Given the description of an element on the screen output the (x, y) to click on. 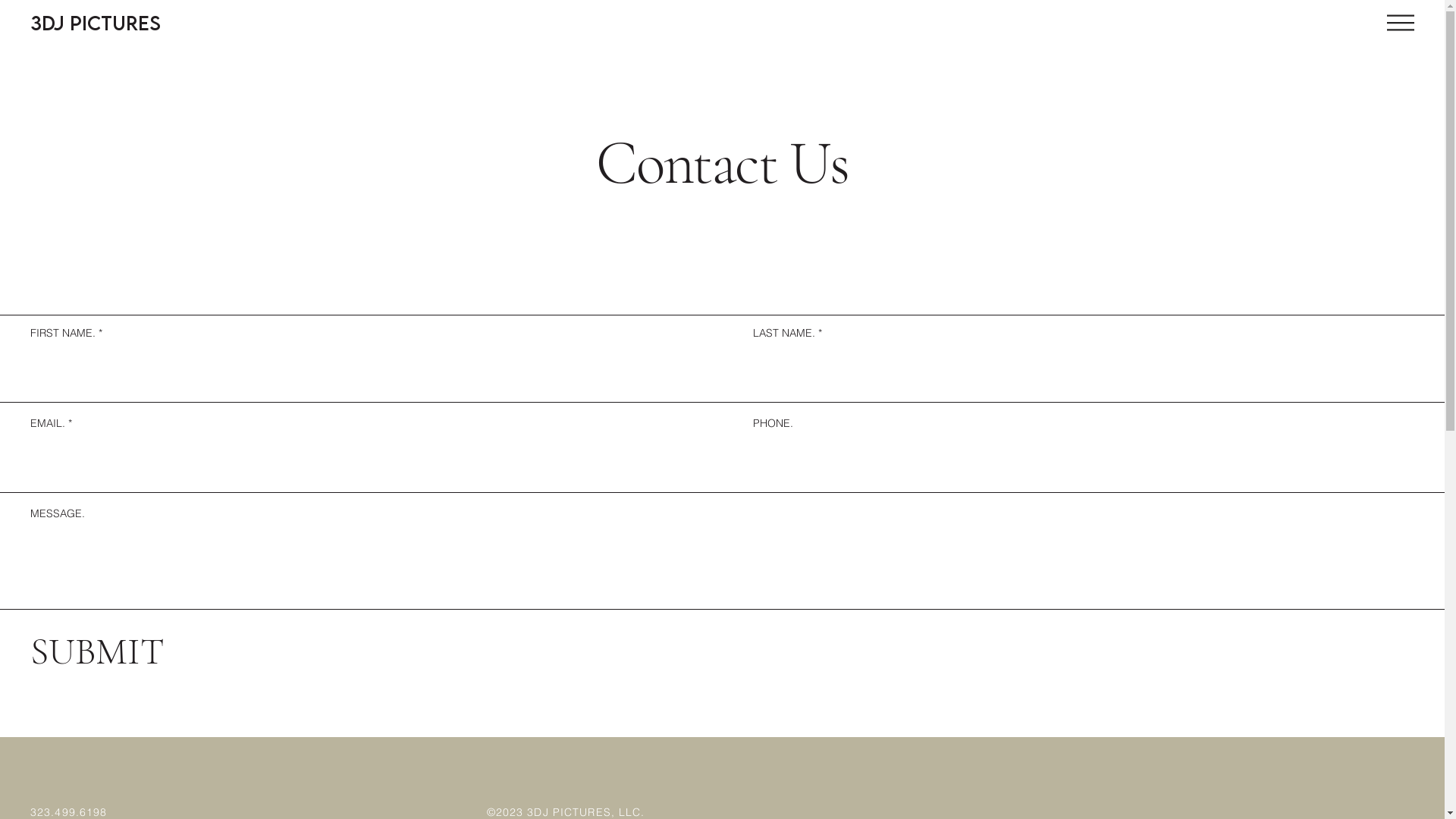
SUBMIT Element type: text (98, 650)
